Given the description of an element on the screen output the (x, y) to click on. 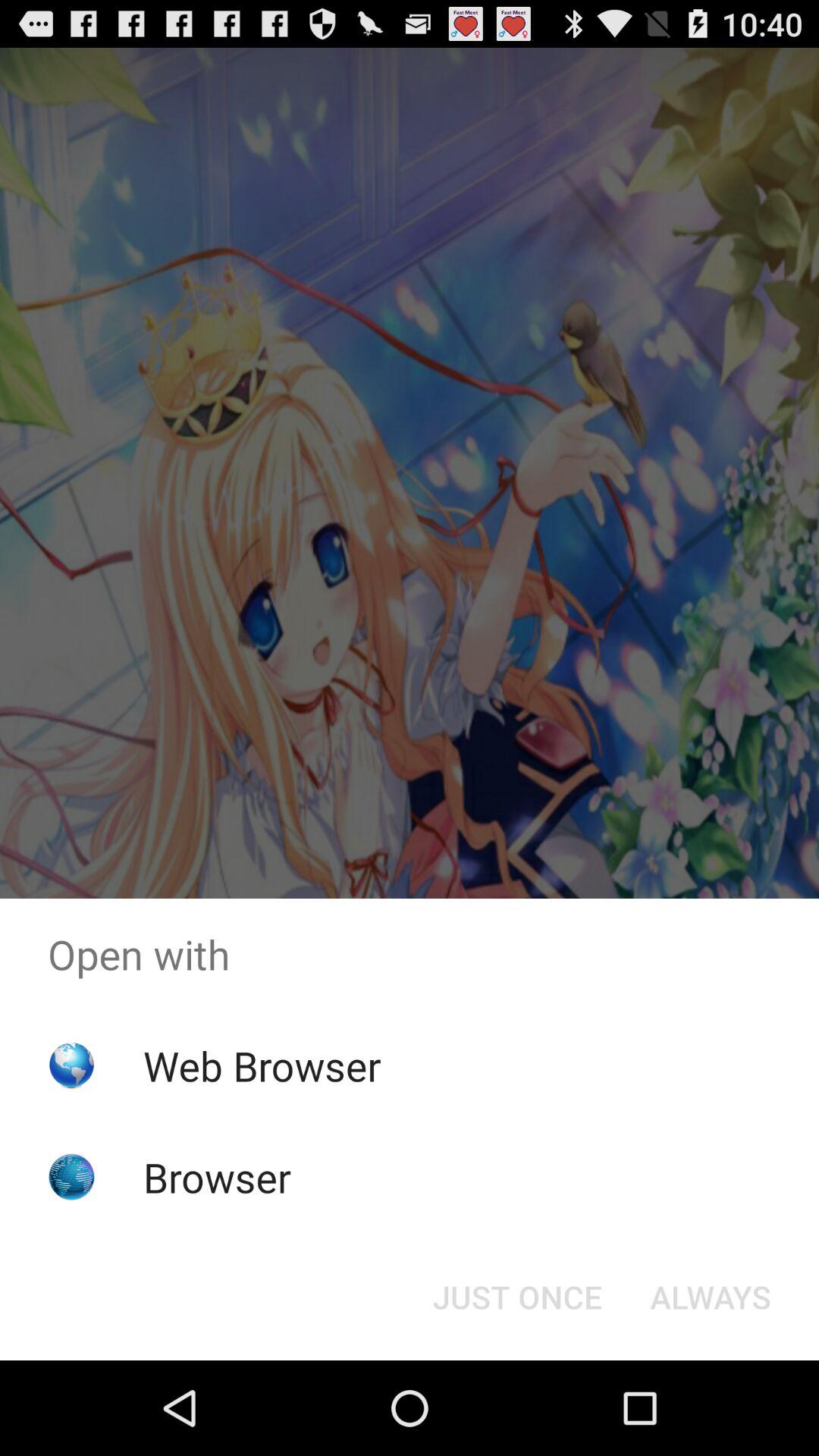
tap the item next to just once icon (710, 1296)
